Given the description of an element on the screen output the (x, y) to click on. 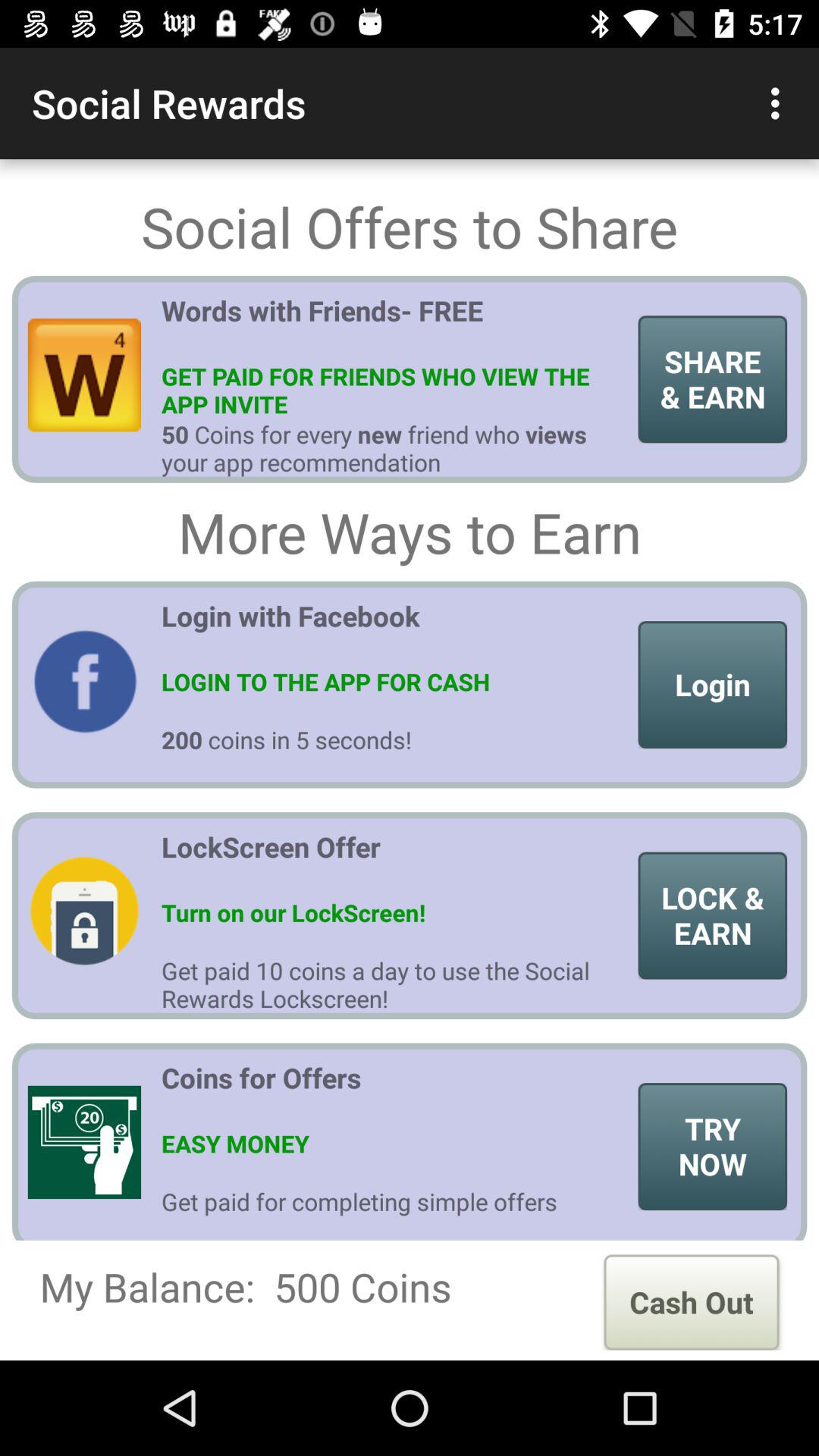
press item to the left of the share & earn item (394, 324)
